Given the description of an element on the screen output the (x, y) to click on. 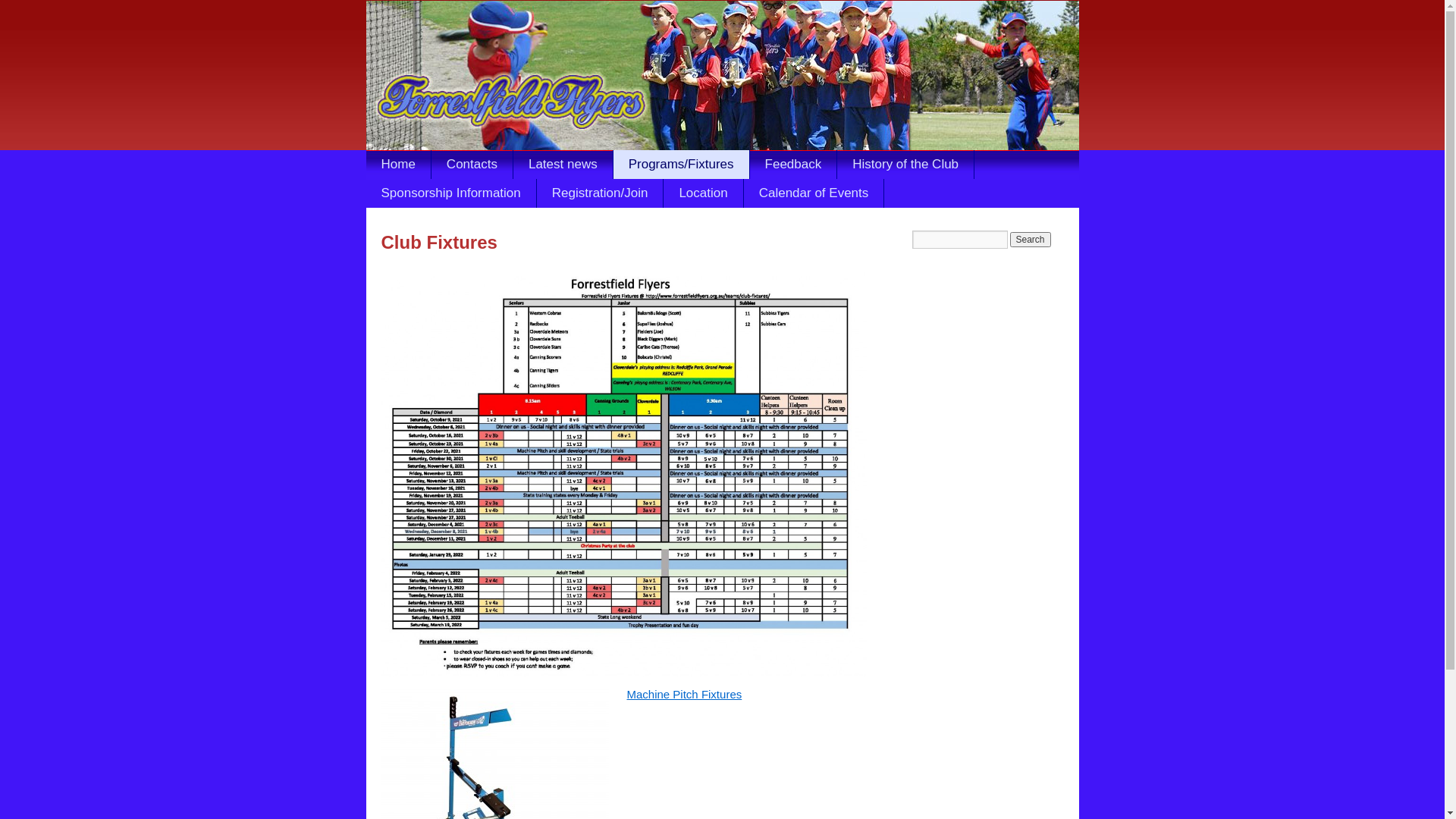
Registration/Join Element type: text (600, 192)
Home Element type: text (397, 164)
Latest news Element type: text (563, 164)
Machine Pitch Fixtures Element type: text (683, 693)
Programs/Fixtures Element type: text (681, 164)
Location Element type: text (703, 192)
Feedback Element type: text (793, 164)
Calendar of Events Element type: text (813, 192)
Search Element type: text (1030, 239)
History of the Club Element type: text (905, 164)
Contacts Element type: text (472, 164)
Sponsorship Information Element type: text (450, 192)
